Given the description of an element on the screen output the (x, y) to click on. 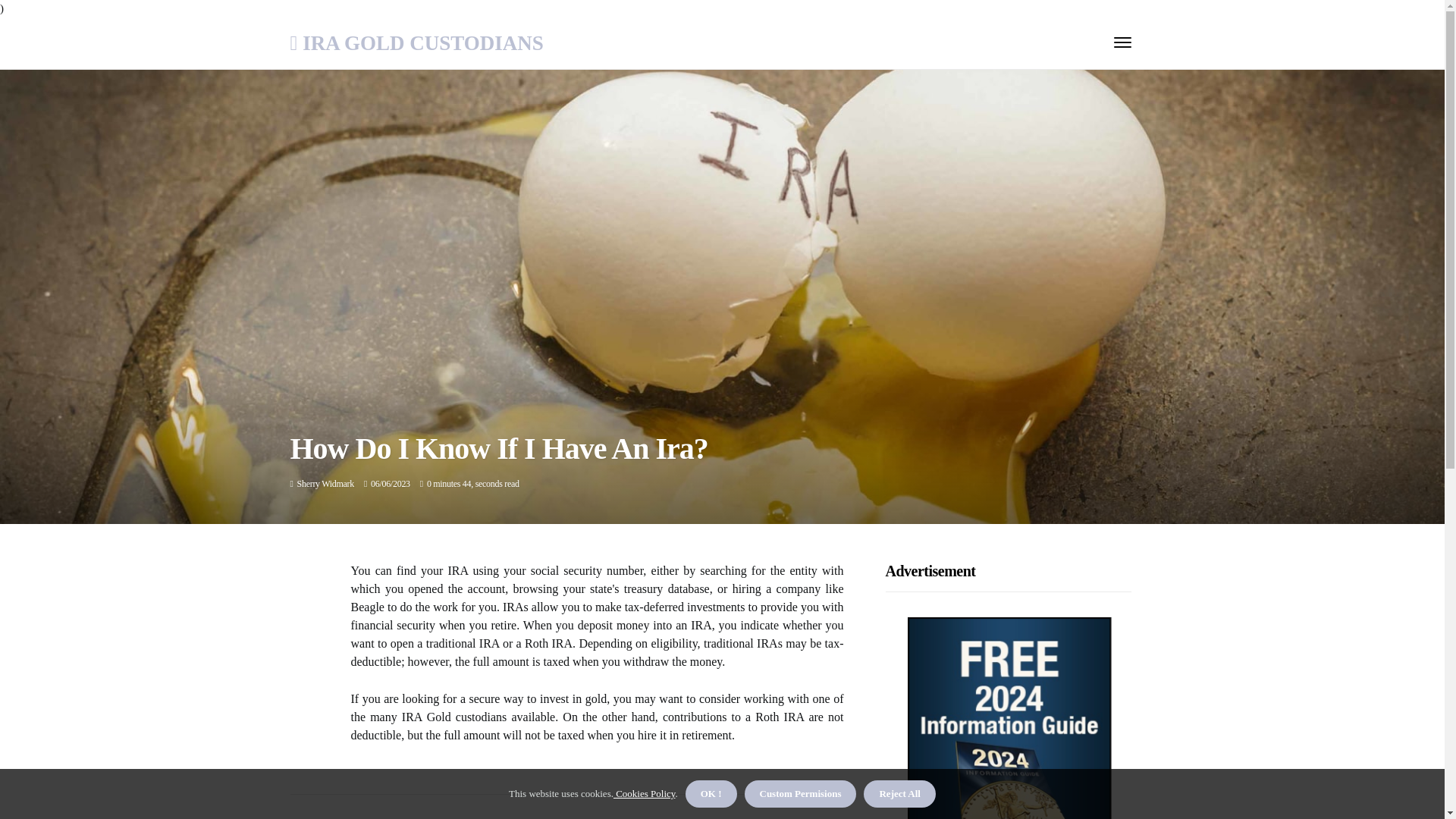
IRA GOLD CUSTODIANS (416, 43)
Posts by Sherry Widmark (325, 483)
